Given the description of an element on the screen output the (x, y) to click on. 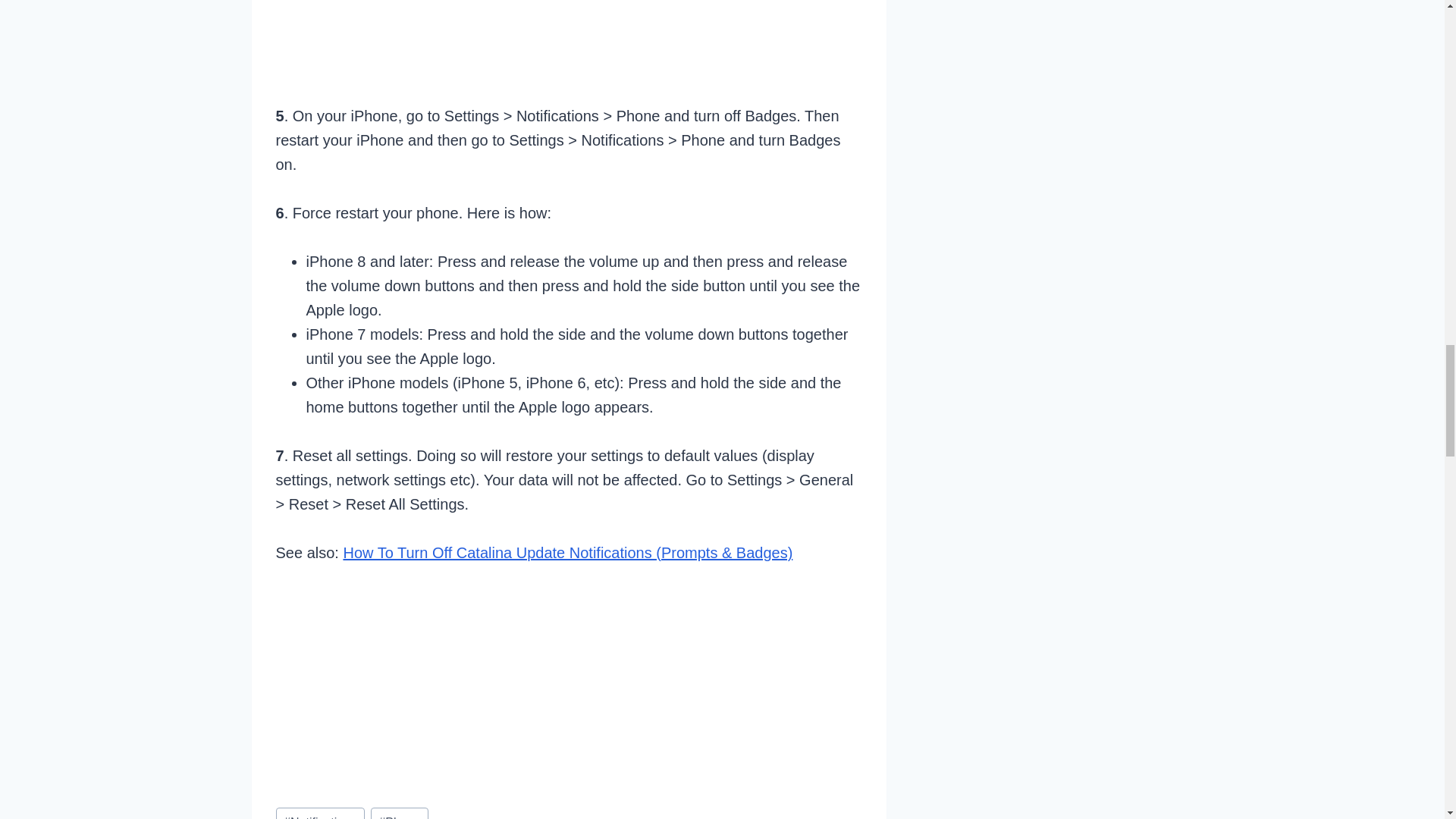
Notifications (320, 813)
Phone (399, 813)
